Given the description of an element on the screen output the (x, y) to click on. 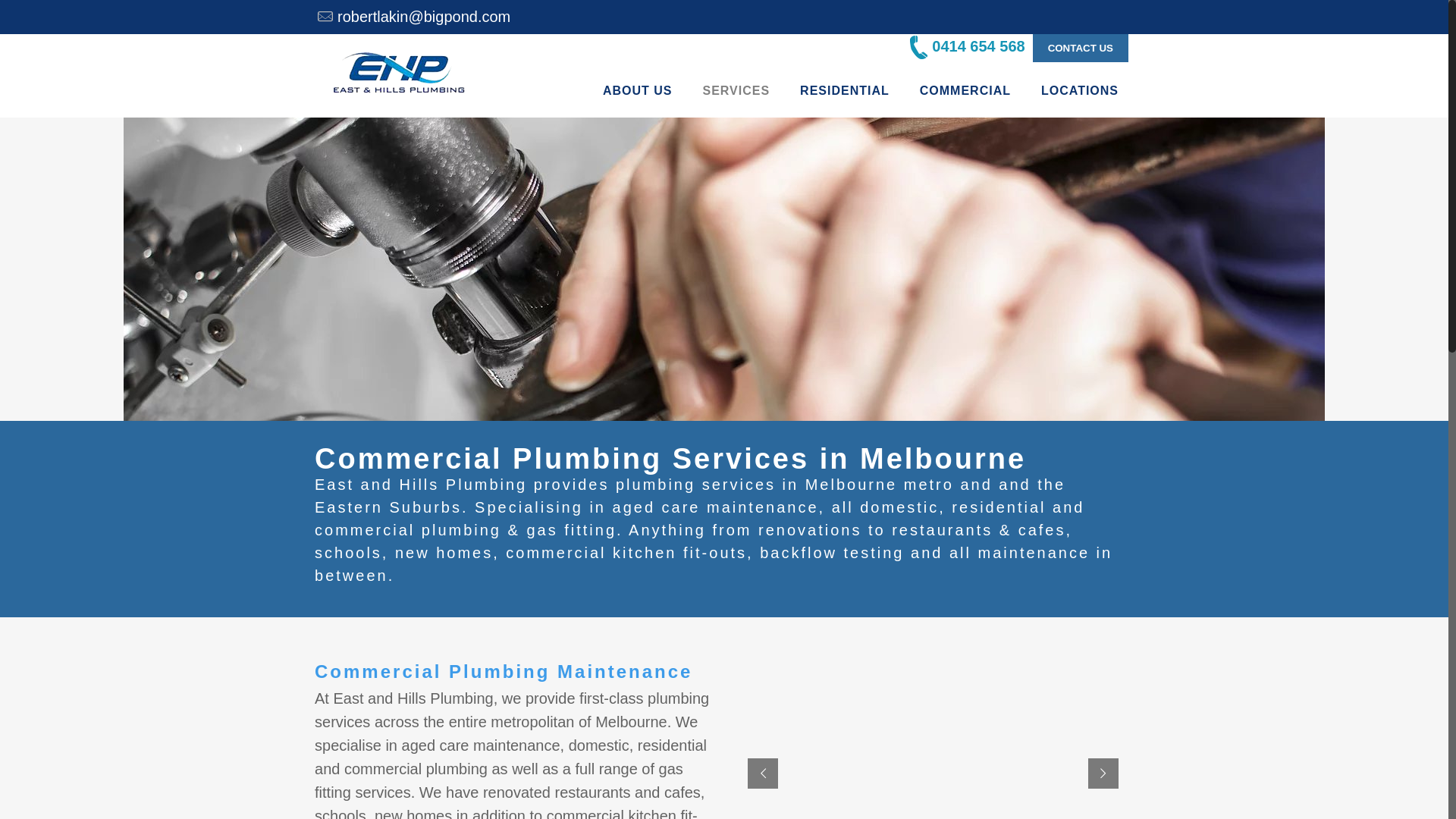
SERVICES Element type: text (735, 90)
ABOUT US Element type: text (637, 90)
RESIDENTIAL Element type: text (844, 90)
0414 654 568 Element type: text (967, 45)
East and Hills Plumbing Element type: hover (398, 75)
COMMERCIAL Element type: text (965, 90)
robertlakin@bigpond.com Element type: text (423, 16)
CONTACT US Element type: text (1079, 45)
LOCATIONS Element type: text (1079, 90)
CONTACT US Element type: text (1080, 48)
